Given the description of an element on the screen output the (x, y) to click on. 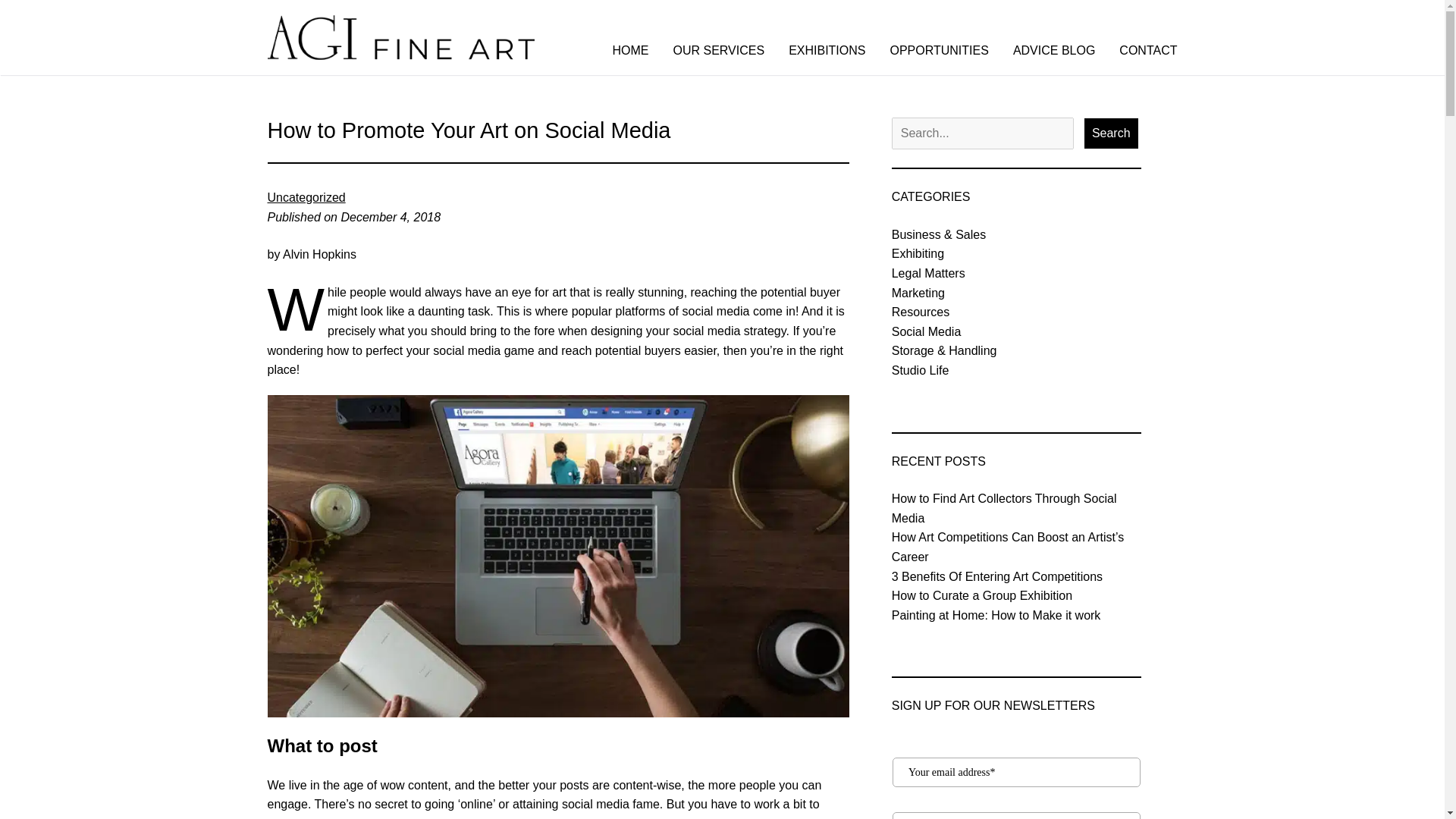
OPPORTUNITIES (938, 50)
CONTACT (1147, 50)
F06 Website - subscribe to mailing list (1016, 776)
ADVICE BLOG (1053, 50)
HOME (630, 50)
Uncategorized (305, 196)
EXHIBITIONS (826, 50)
OUR SERVICES (718, 50)
